Given the description of an element on the screen output the (x, y) to click on. 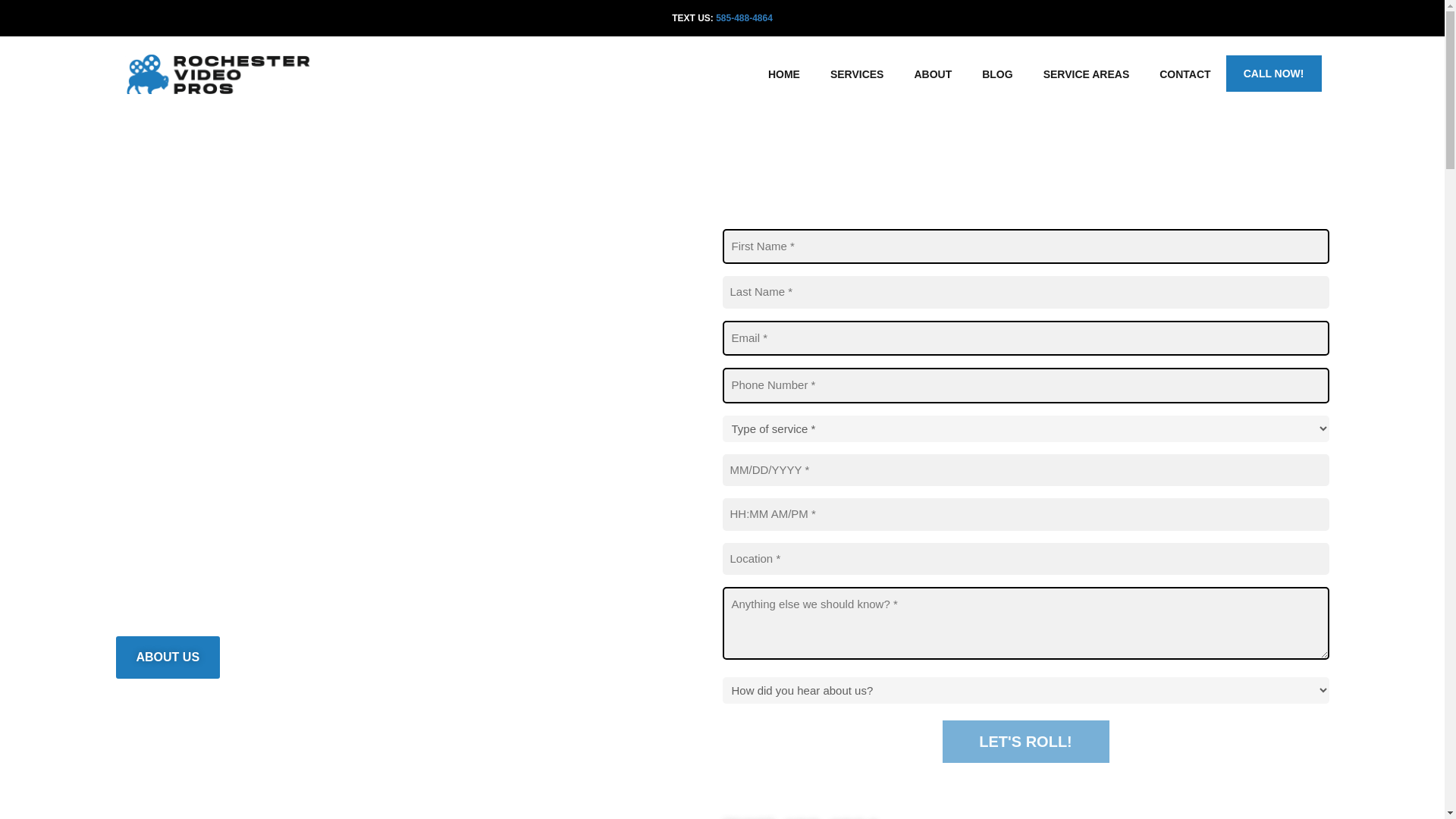
CALL NOW! (1273, 73)
SERVICES (857, 74)
HOME (783, 74)
ABOUT (932, 74)
CONTACT (1184, 74)
SERVICE AREAS (1085, 74)
Let's Roll! (1025, 741)
BLOG (996, 74)
